Given the description of an element on the screen output the (x, y) to click on. 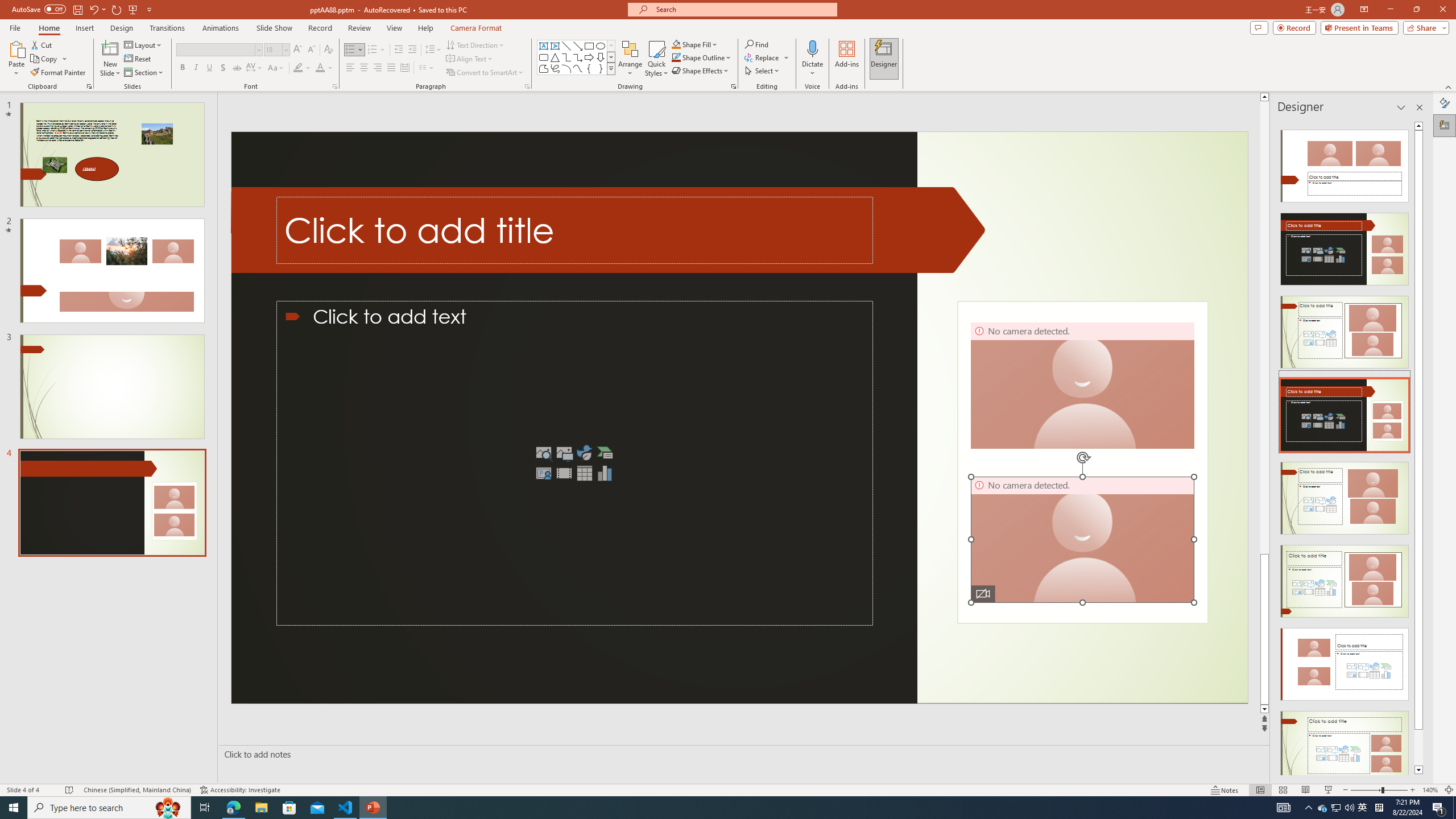
Camera 4, No camera detected. (1082, 539)
Numbering (372, 49)
Font Color Red (320, 67)
Change Case (276, 67)
Increase Indent (412, 49)
Decrease Font Size (310, 49)
Pictures (563, 452)
Slide (111, 502)
Line Spacing (433, 49)
Character Spacing (254, 67)
